Given the description of an element on the screen output the (x, y) to click on. 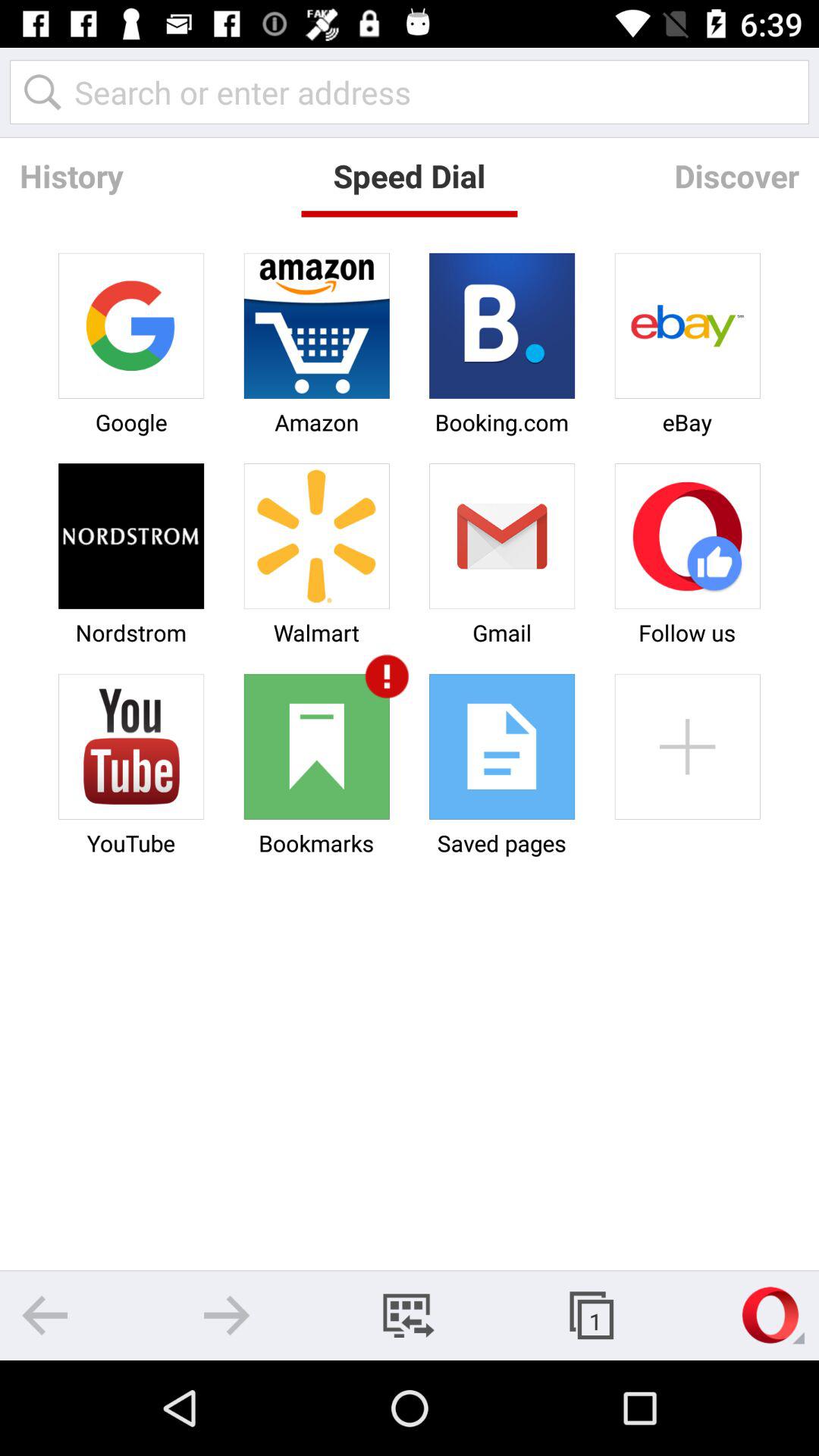
jump until the history icon (71, 175)
